Given the description of an element on the screen output the (x, y) to click on. 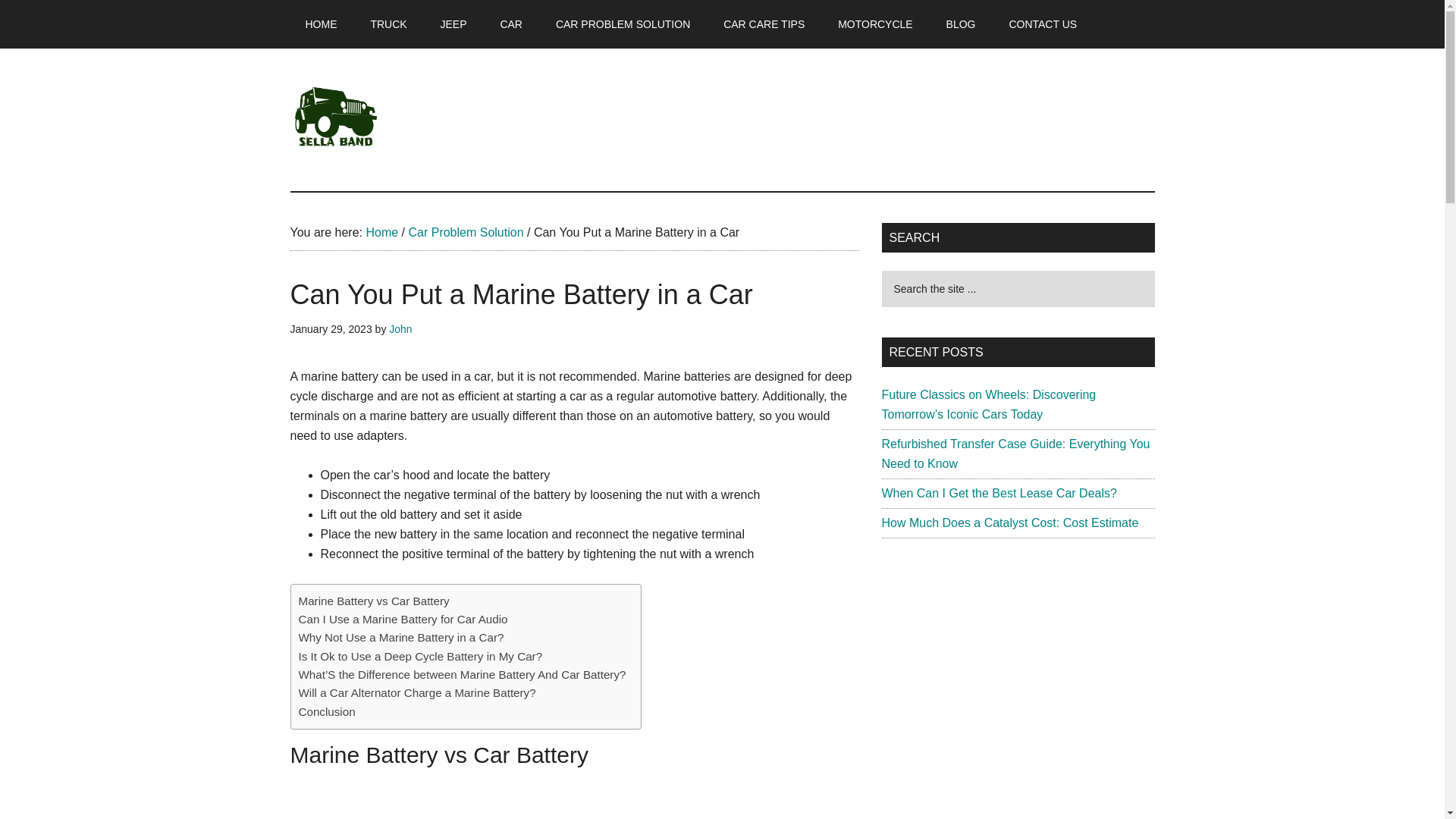
Car Problem Solution (464, 232)
Can I Use a Marine Battery for Car Audio (403, 619)
JEEP (453, 24)
Refurbished Transfer Case Guide: Everything You Need to Know (1015, 453)
Why Not Use a Marine Battery in a Car? (400, 637)
John (400, 328)
Can I Use a Marine Battery for Car Audio (403, 619)
Blog (961, 24)
Will a Car Alternator Charge a Marine Battery? (416, 692)
